Given the description of an element on the screen output the (x, y) to click on. 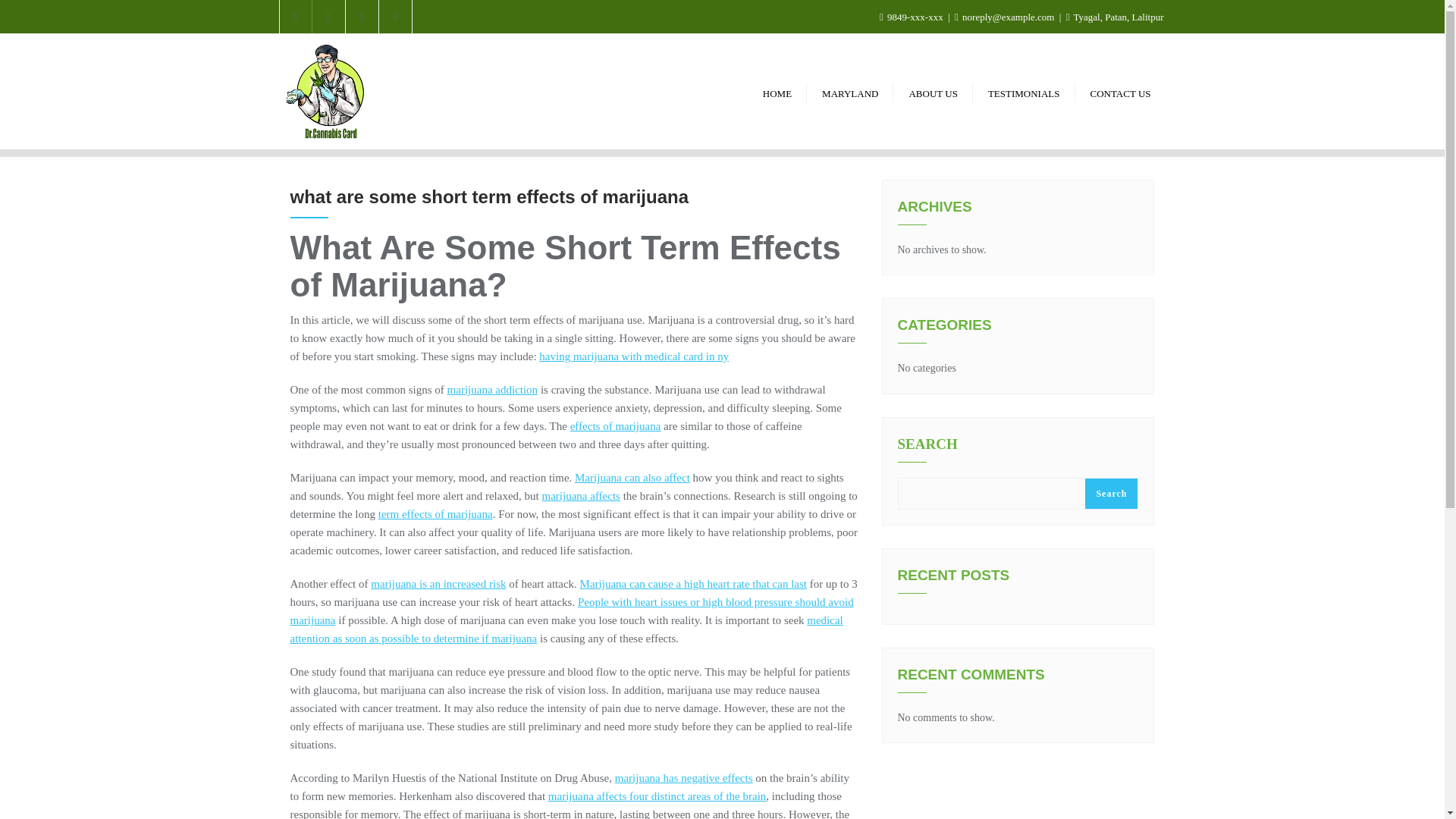
having marijuana with medical card in ny (633, 356)
marijuana has negative effects (683, 777)
marijuana affects (580, 495)
HOME (777, 92)
MARYLAND (849, 92)
ABOUT US (932, 92)
Marijuana can cause a high heart rate that can last (692, 583)
marijuana affects four distinct areas of the brain (657, 796)
Search (1110, 493)
marijuana addiction (492, 389)
CONTACT US (1120, 92)
TESTIMONIALS (1023, 92)
marijuana is an increased risk (438, 583)
term effects of marijuana (435, 513)
